Given the description of an element on the screen output the (x, y) to click on. 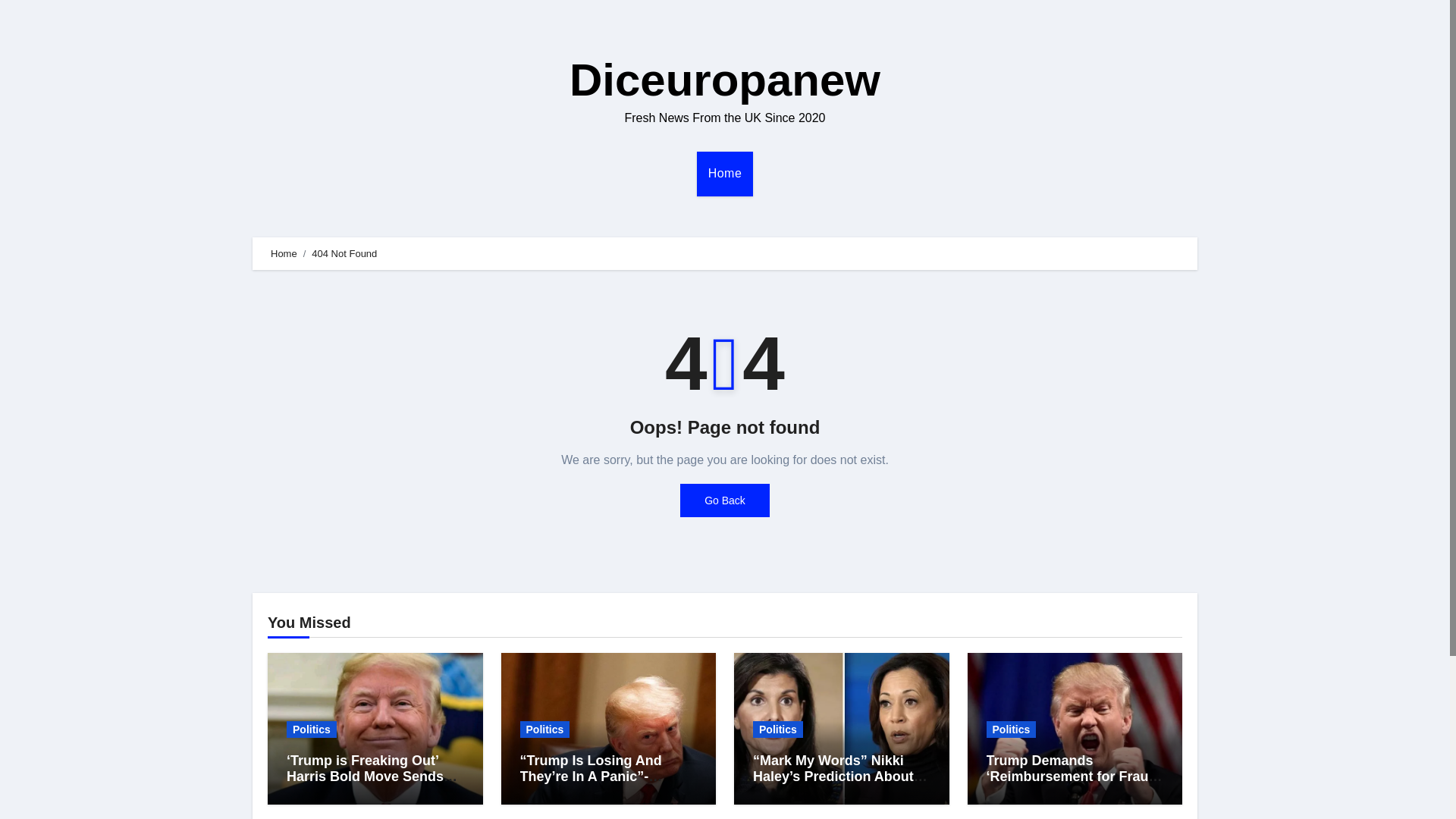
Politics (1010, 729)
Diceuropanew (724, 79)
Home (725, 173)
Home (283, 253)
Home (725, 173)
Politics (777, 729)
Go Back (724, 500)
Politics (311, 729)
Politics (544, 729)
